Given the description of an element on the screen output the (x, y) to click on. 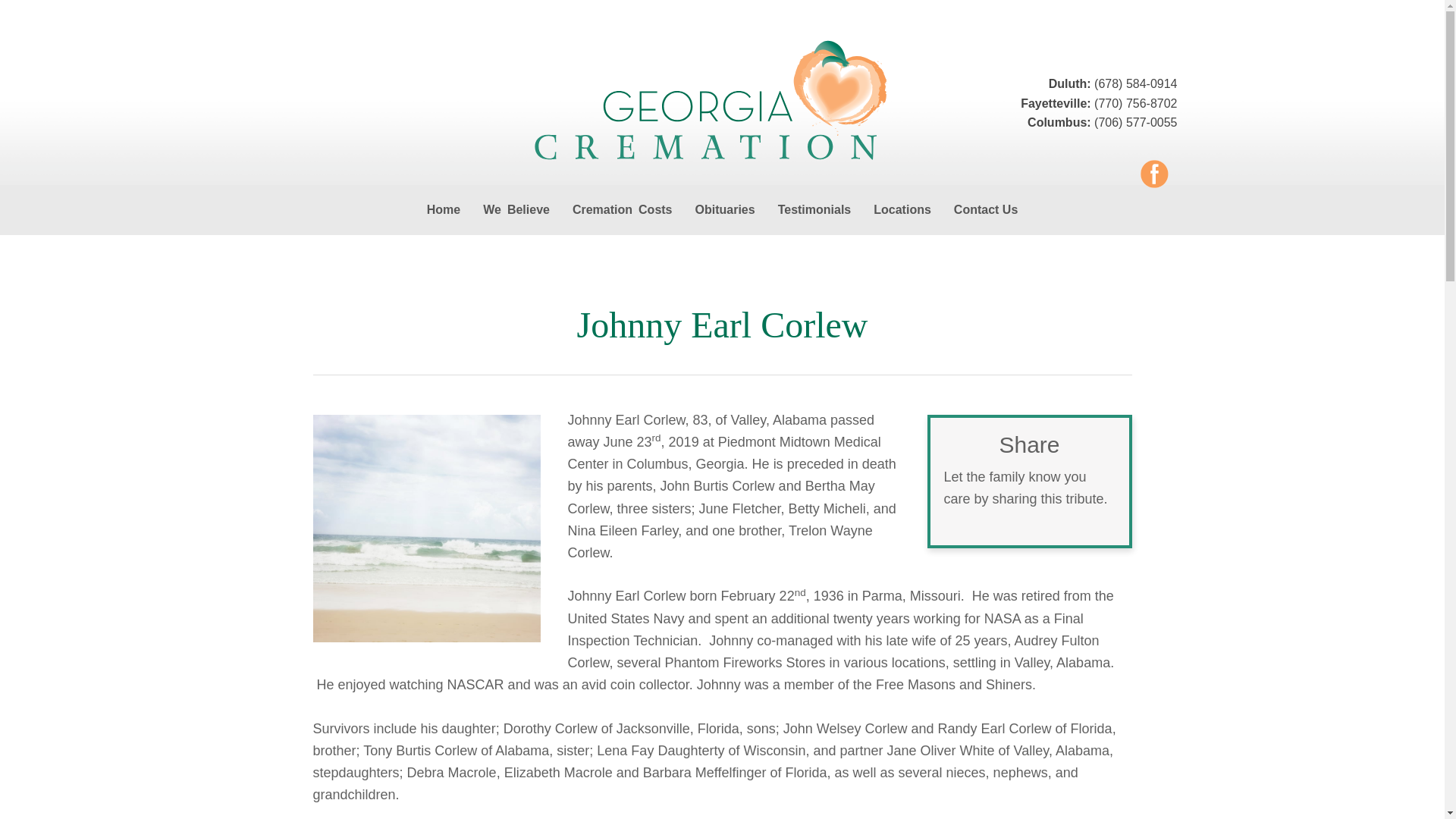
Home (443, 210)
Georgia Cremation (721, 101)
Contact Us (985, 210)
Testimonials (814, 210)
Locations (902, 210)
Obituaries (724, 210)
